Given the description of an element on the screen output the (x, y) to click on. 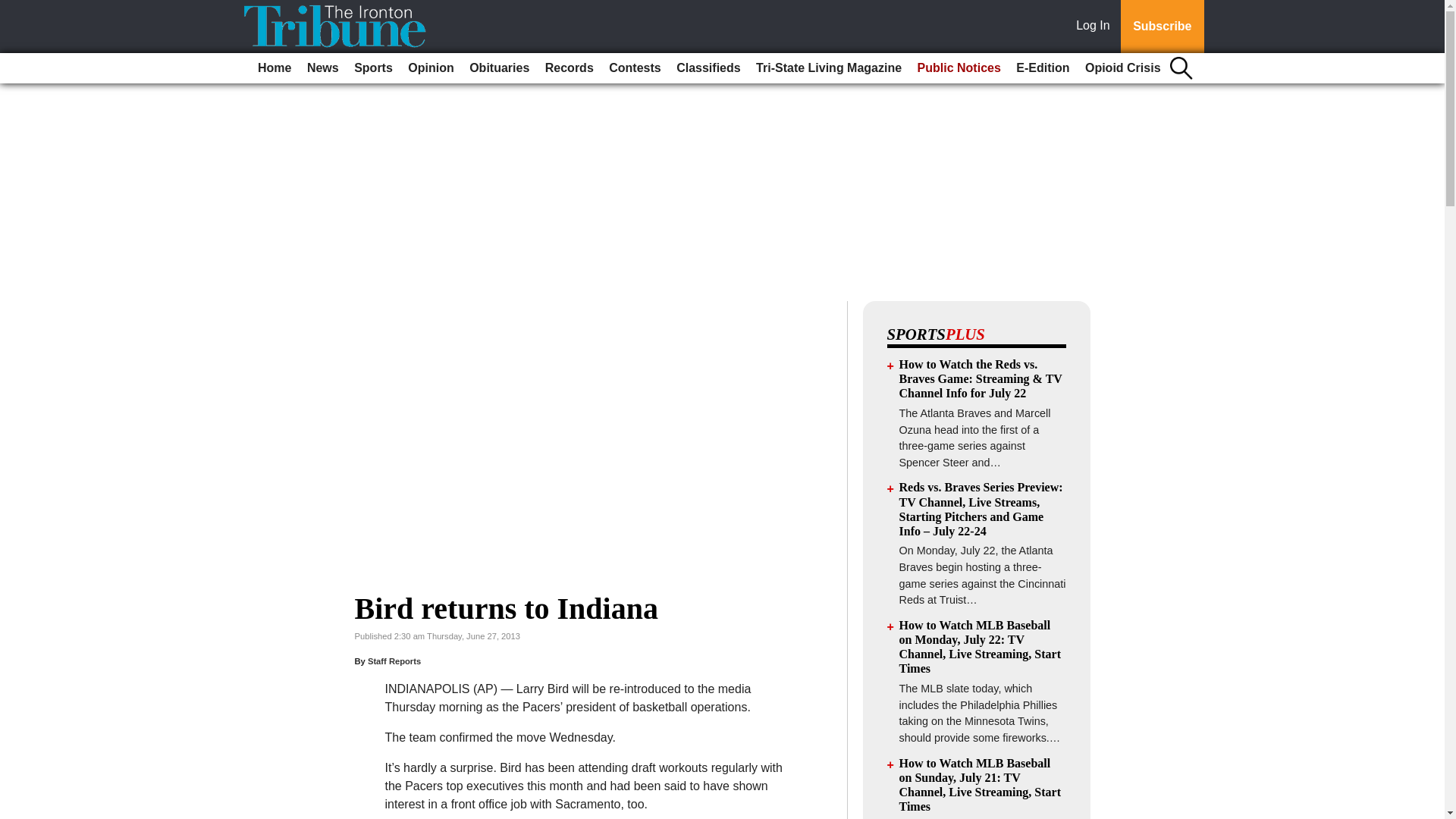
Go (13, 9)
Records (568, 68)
E-Edition (1042, 68)
Log In (1095, 26)
Obituaries (499, 68)
Opinion (430, 68)
Contests (634, 68)
Opioid Crisis (1122, 68)
Public Notices (959, 68)
Staff Reports (394, 660)
Tri-State Living Magazine (828, 68)
Subscribe (1162, 26)
News (323, 68)
